Given the description of an element on the screen output the (x, y) to click on. 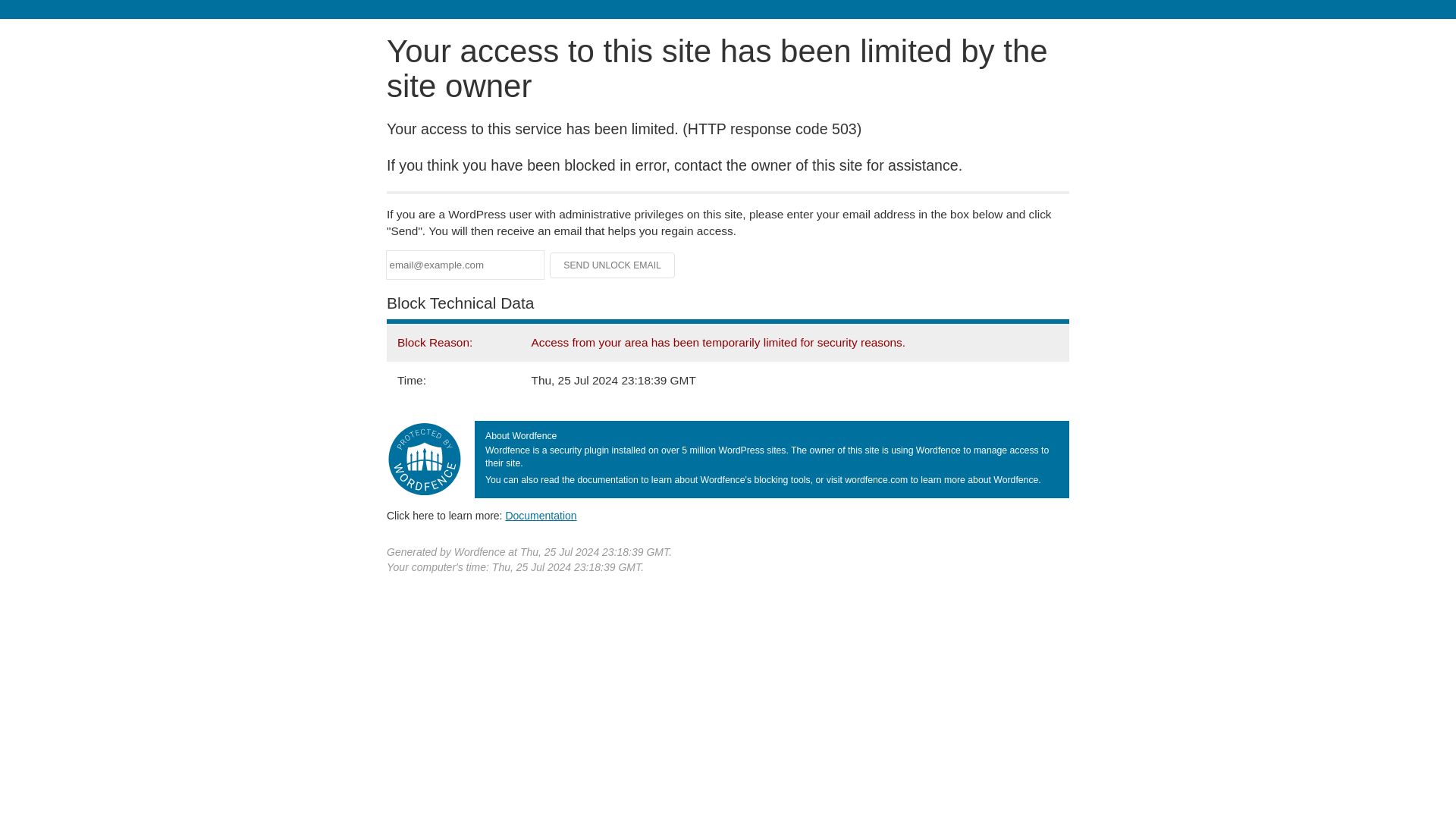
Documentation (540, 515)
Send Unlock Email (612, 265)
Send Unlock Email (612, 265)
